Given the description of an element on the screen output the (x, y) to click on. 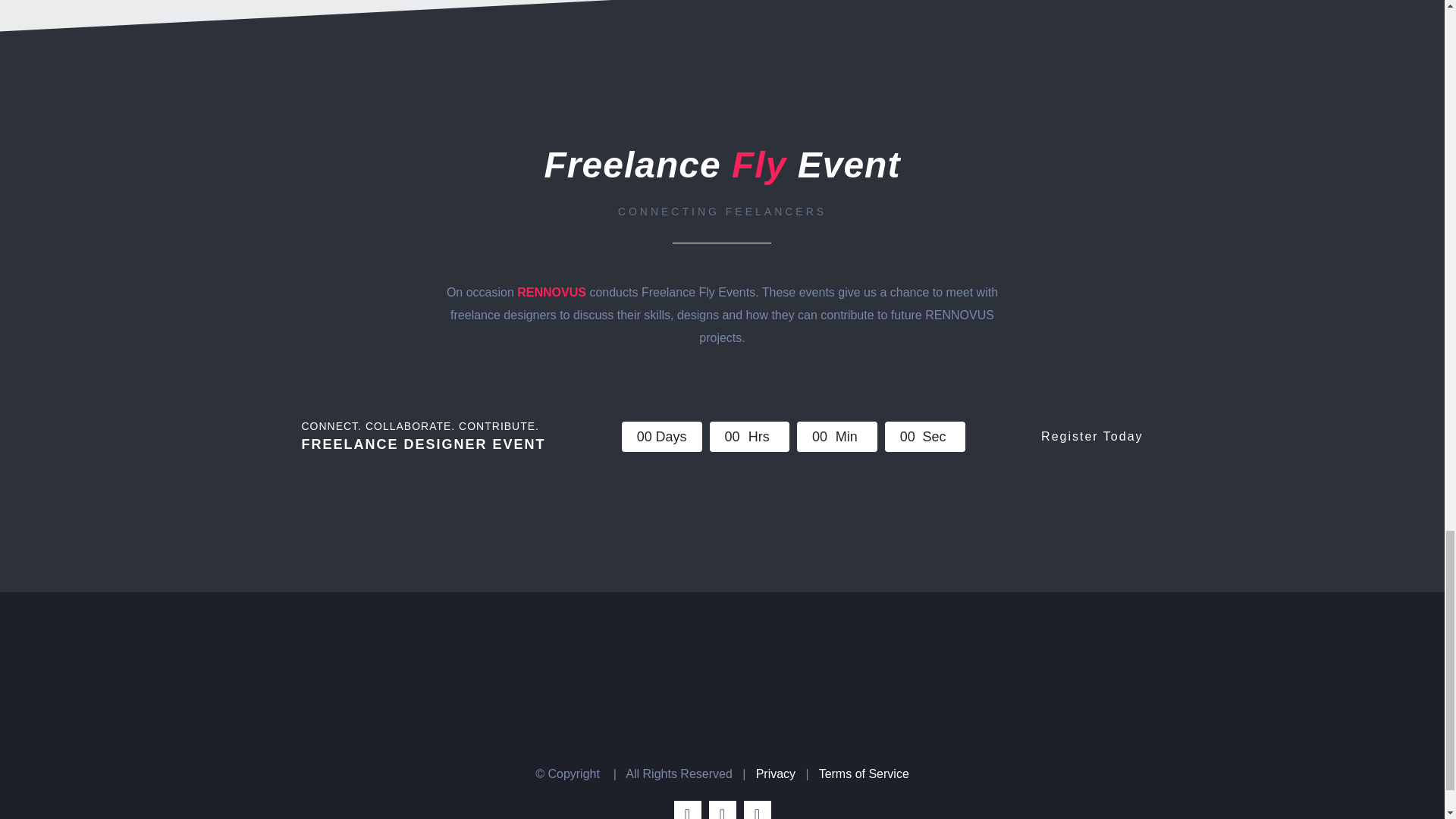
Register Today (1091, 436)
Instagram (756, 809)
X (721, 809)
Privacy (774, 773)
Facebook (686, 809)
X (721, 809)
Terms of Service (863, 773)
Facebook (686, 809)
Instagram (756, 809)
